Given the description of an element on the screen output the (x, y) to click on. 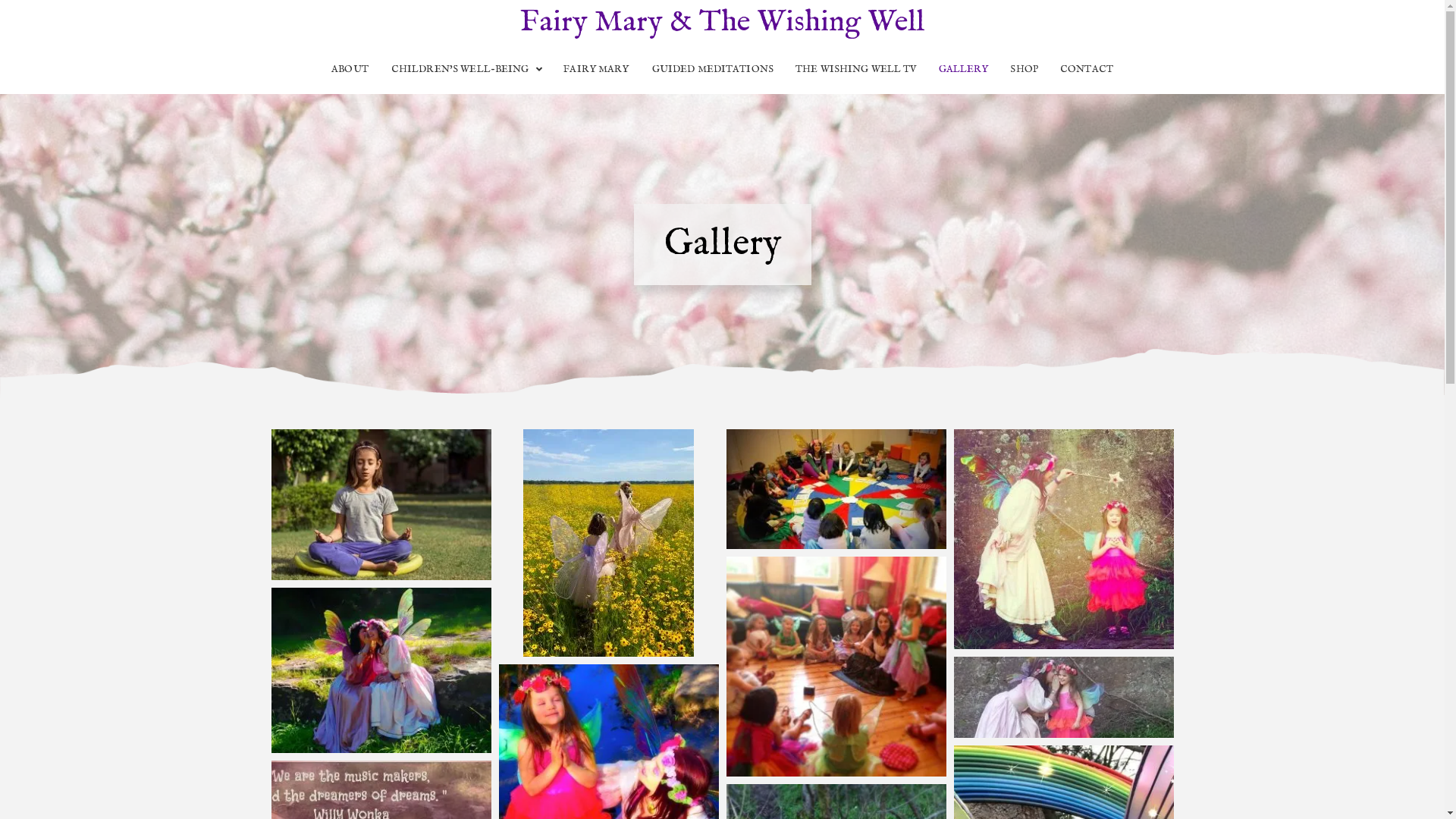
fairy yoga Element type: hover (836, 489)
allison-archer-pq0-ntqr6qw-unsplash Element type: hover (608, 542)
fairy whispers Element type: hover (1063, 696)
fairy party 01 Element type: hover (836, 666)
ABOUT Element type: text (349, 69)
Fairy Mary & The Wishing Well Element type: text (722, 21)
FAIRY MARY Element type: text (596, 69)
allison-archer-pq0-ntqr6qw-unsplash Element type: hover (608, 542)
fairy secrets Element type: hover (381, 670)
jyotirmoy-gupta-bpz9WOYalWk-unsplash Element type: hover (381, 504)
SHOP Element type: text (1024, 69)
GUIDED MEDITATIONS Element type: text (712, 69)
make a wish Element type: hover (1063, 539)
THE WISHING WELL TV Element type: text (855, 69)
GALLERY Element type: text (963, 69)
CONTACT Element type: text (1085, 69)
